Given the description of an element on the screen output the (x, y) to click on. 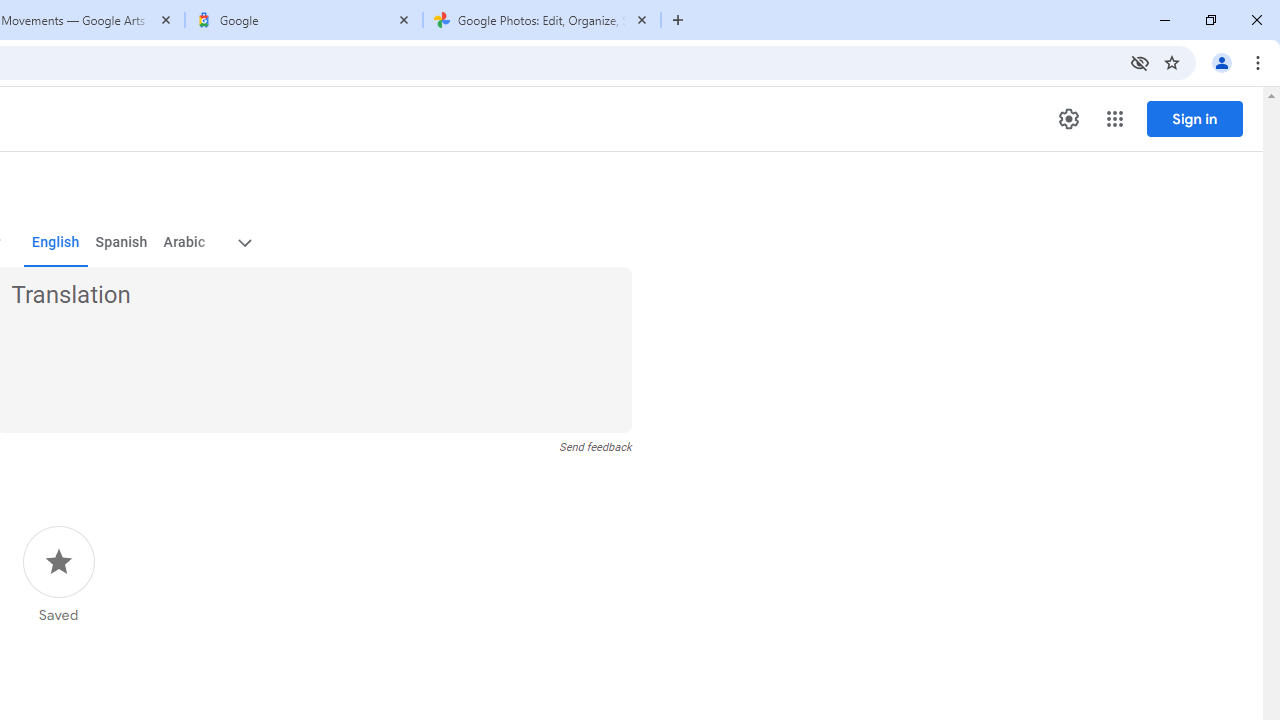
English (55, 242)
Saved (57, 575)
Arabic (183, 242)
Send feedback (595, 447)
Spanish (121, 242)
